Given the description of an element on the screen output the (x, y) to click on. 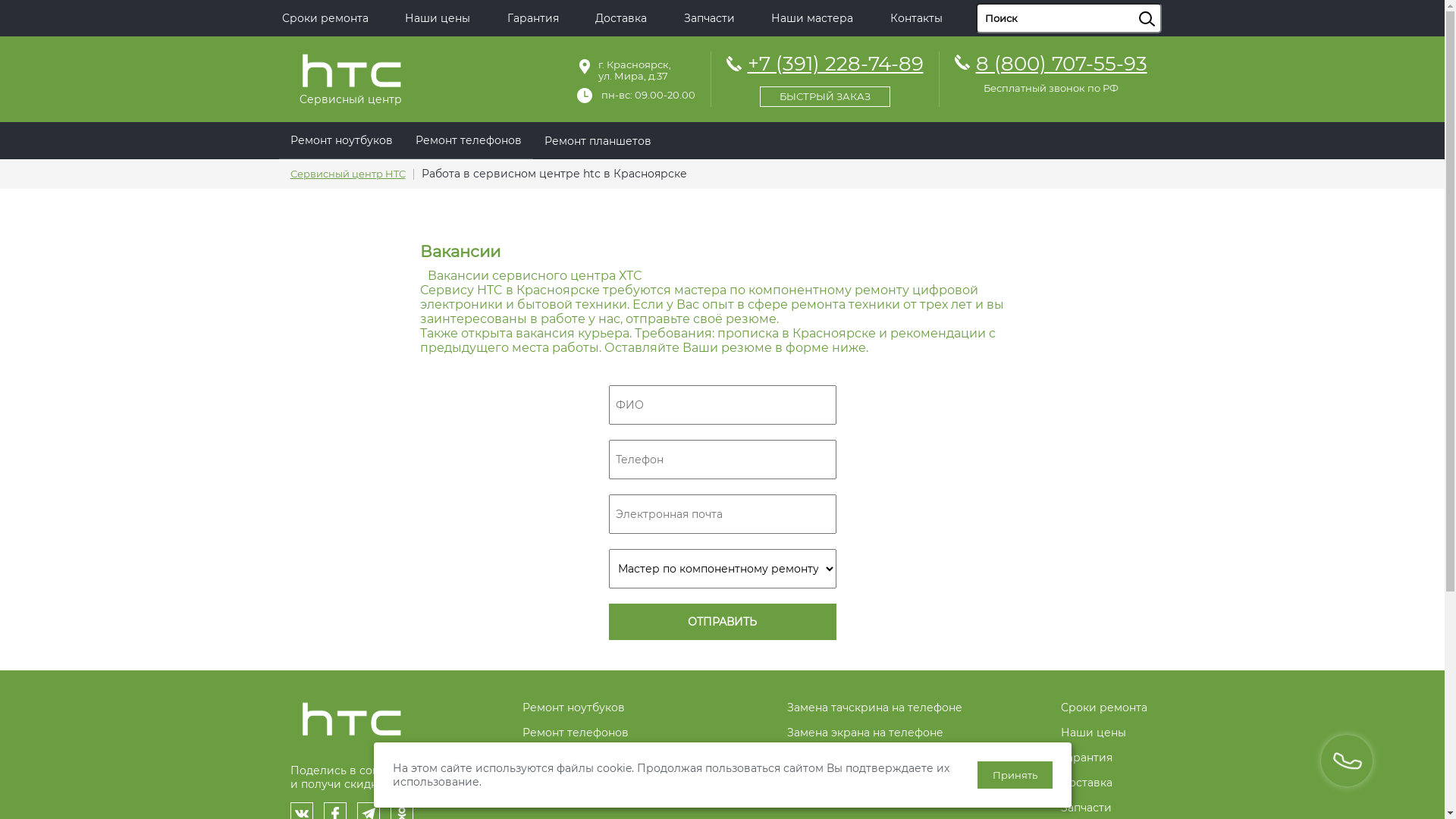
sisea.search Element type: text (1165, 3)
8 (800) 707-55-93 Element type: text (1060, 63)
+7 (391) 228-74-89 Element type: text (824, 77)
